Given the description of an element on the screen output the (x, y) to click on. 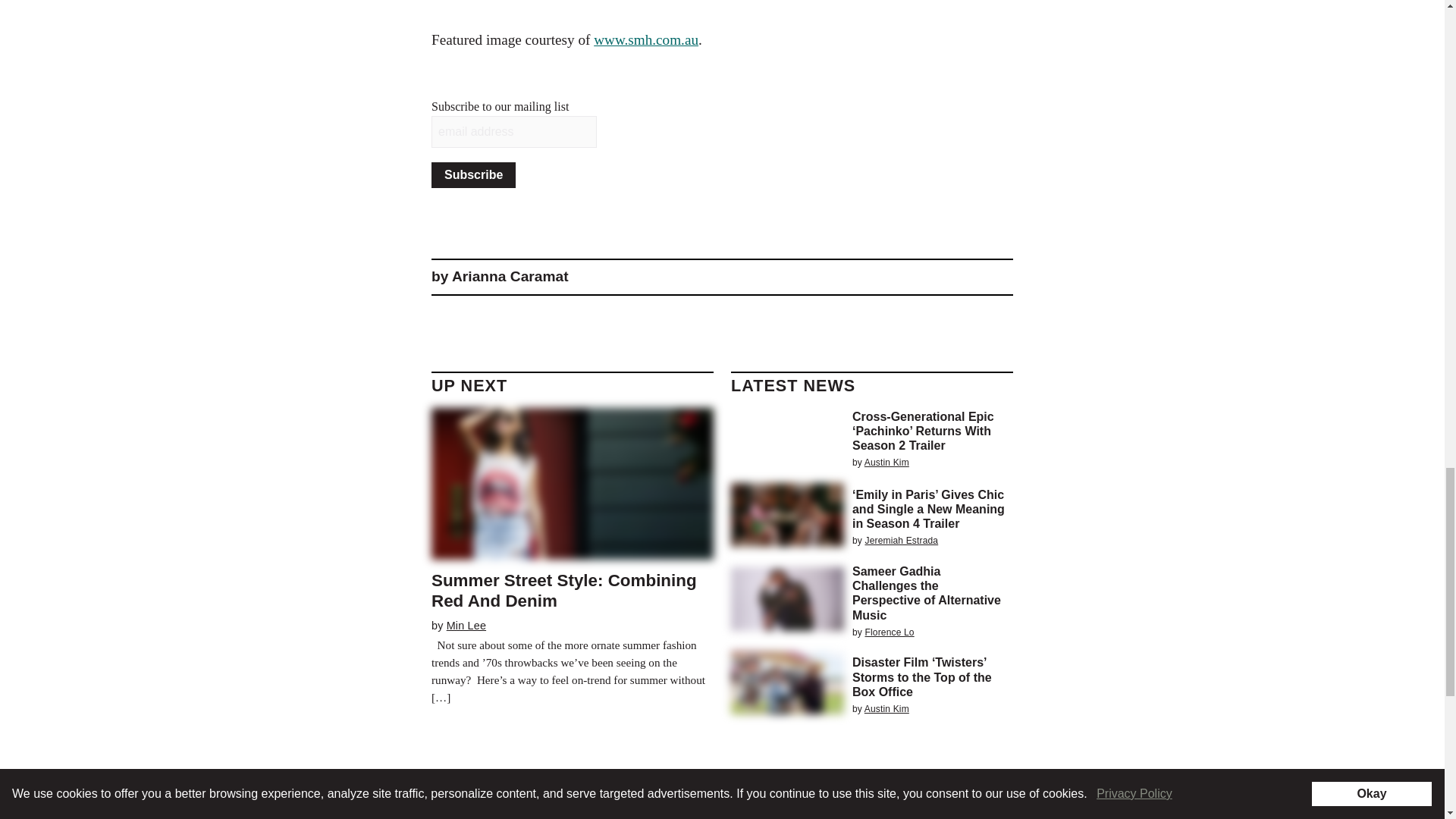
Arianna Caramat (510, 276)
Subscribe (472, 175)
www.smh.com.au (646, 39)
Subscribe (472, 175)
